Given the description of an element on the screen output the (x, y) to click on. 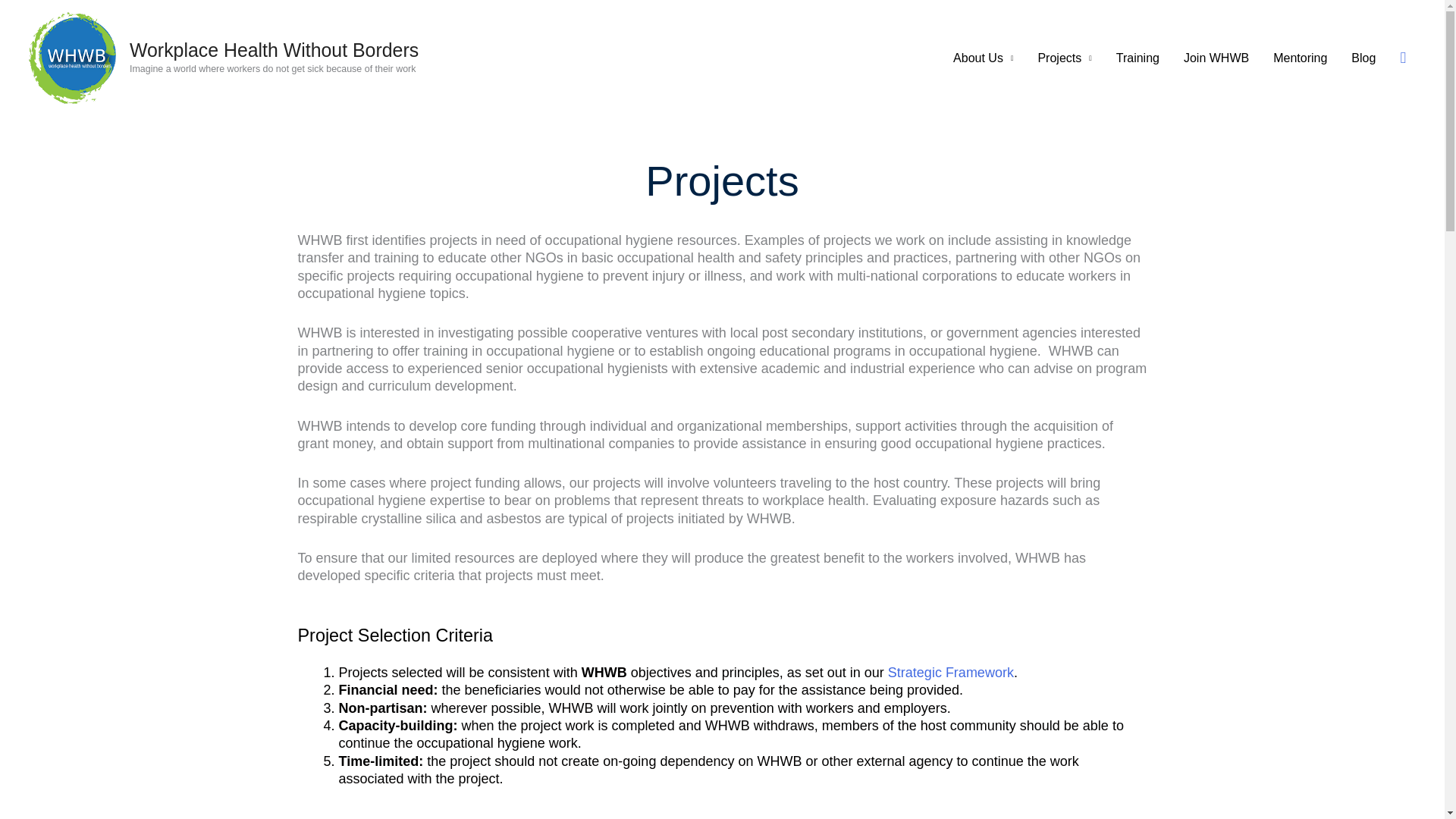
Workplace Health Without Borders (274, 49)
Strategic Framework (950, 672)
